Given the description of an element on the screen output the (x, y) to click on. 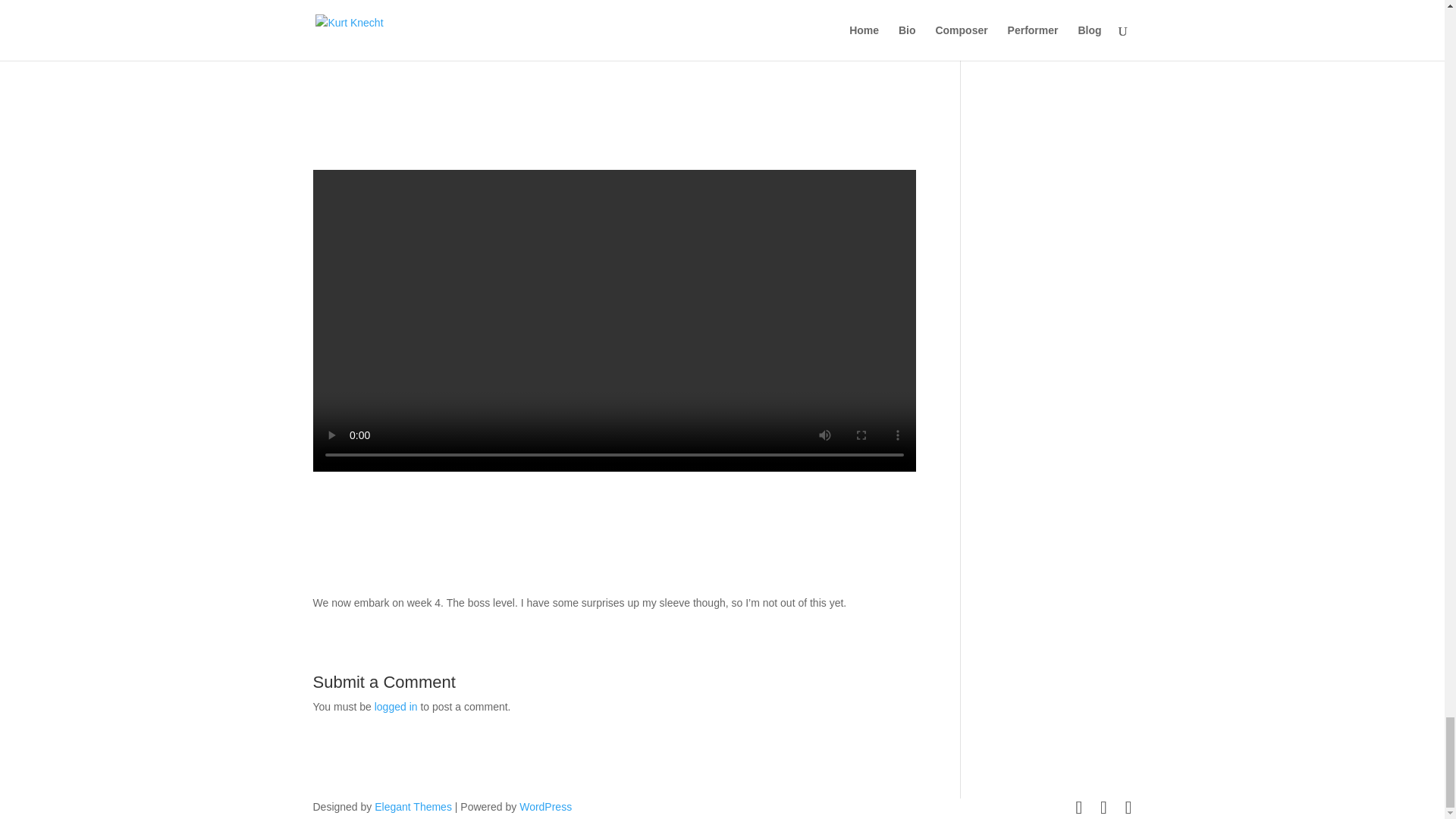
logged in (395, 706)
WordPress (545, 806)
Elegant Themes (412, 806)
Premium WordPress Themes (412, 806)
